Given the description of an element on the screen output the (x, y) to click on. 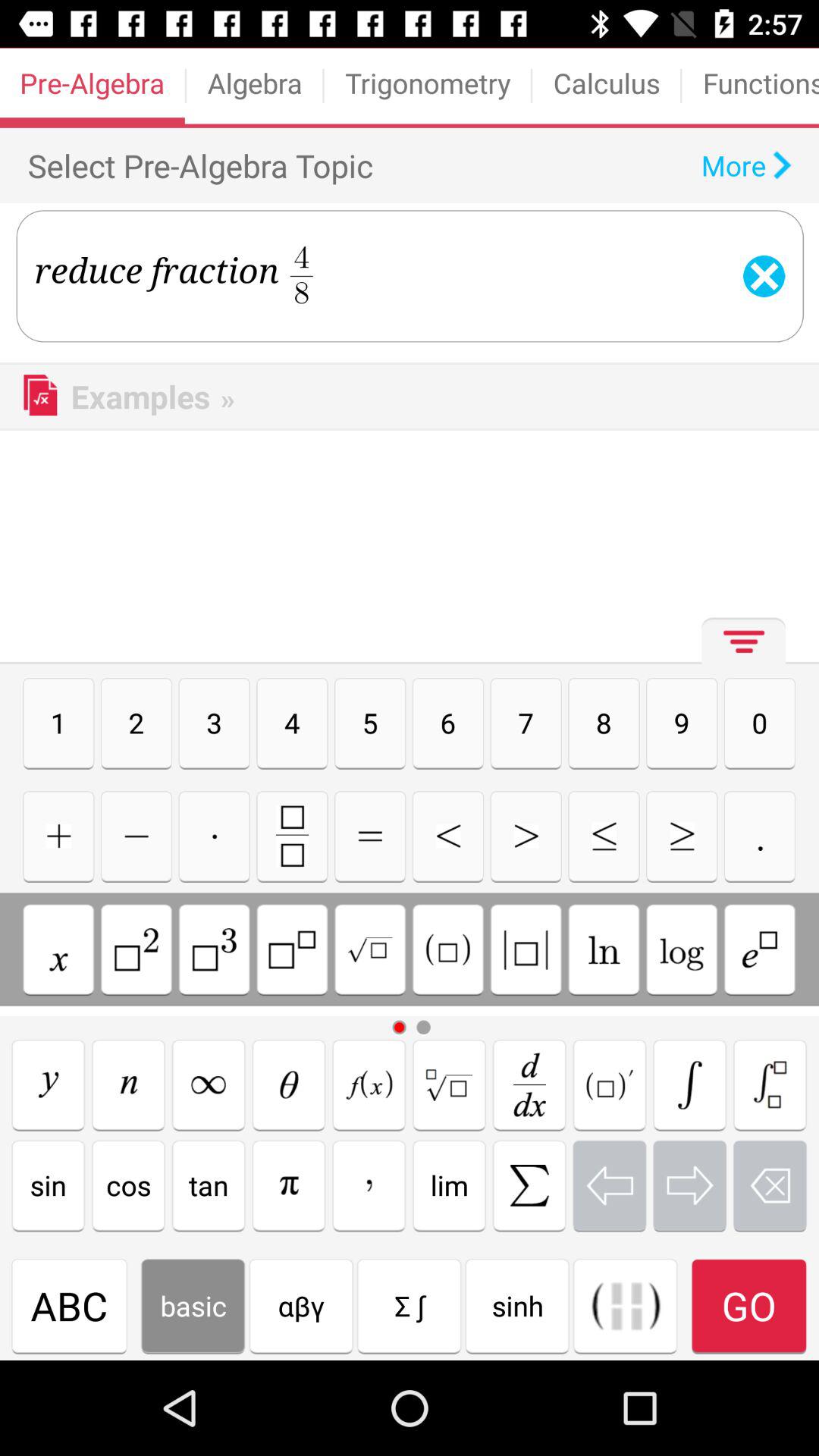
reduce fraction d/dx (529, 1084)
